Given the description of an element on the screen output the (x, y) to click on. 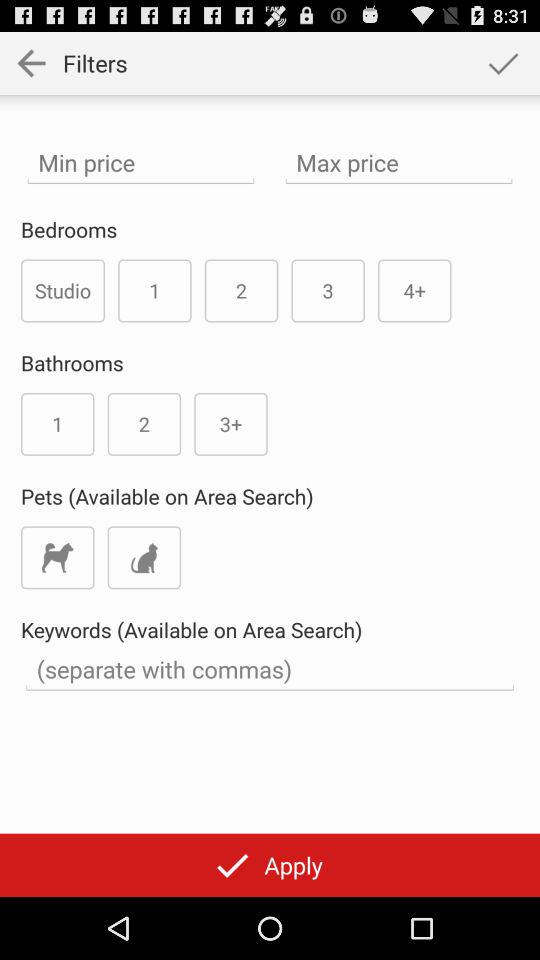
flip to 4+ item (414, 290)
